Given the description of an element on the screen output the (x, y) to click on. 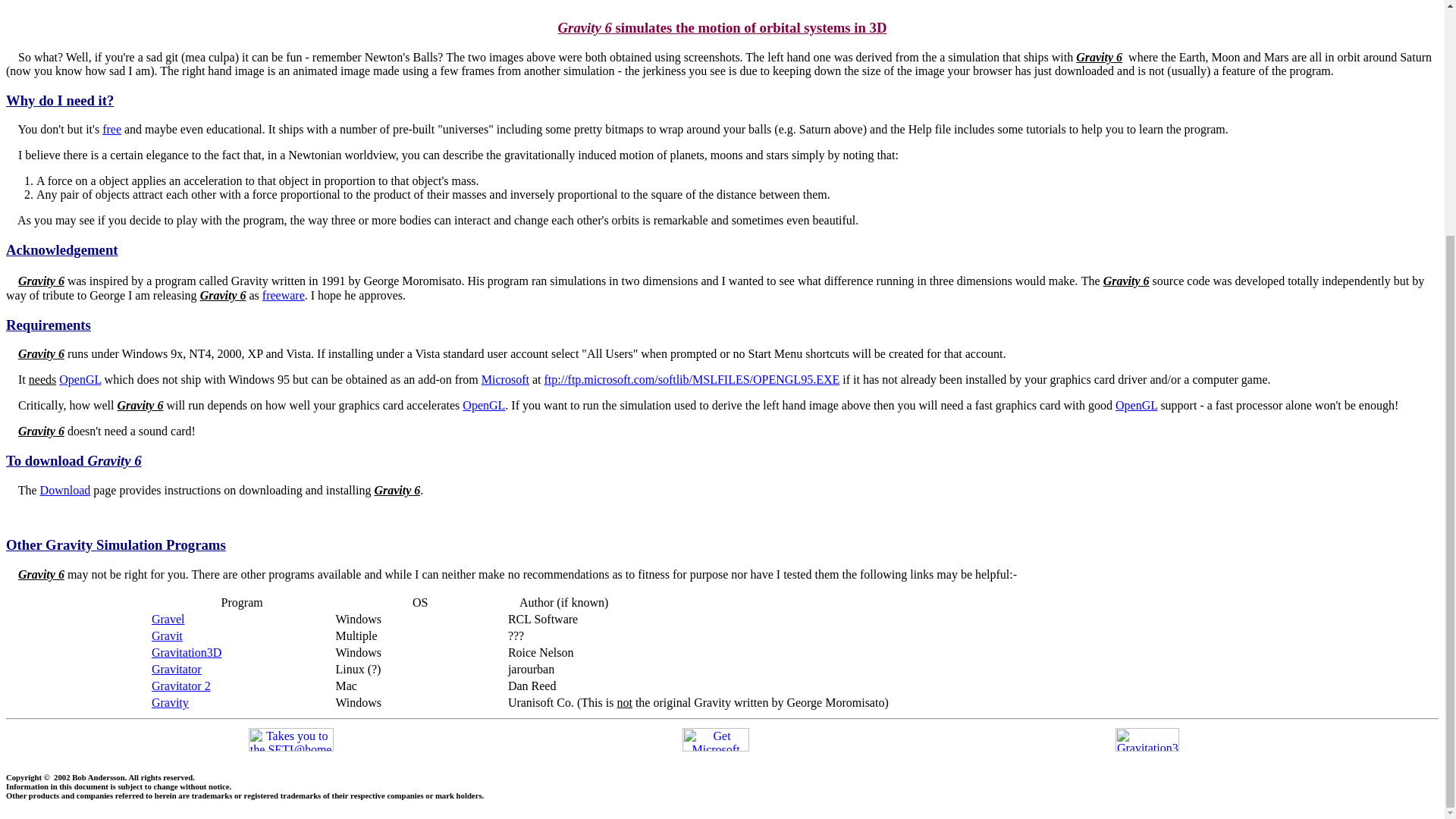
Download (65, 490)
Gravitation3D (186, 652)
OpenGL (484, 404)
OpenGL (1136, 404)
Gravitator (176, 668)
Gravit (167, 635)
freeware (283, 295)
OpenGL (79, 379)
Microsoft (505, 379)
Gravel (167, 618)
free (110, 128)
Gravity (170, 702)
Gravitator 2 (181, 685)
